Given the description of an element on the screen output the (x, y) to click on. 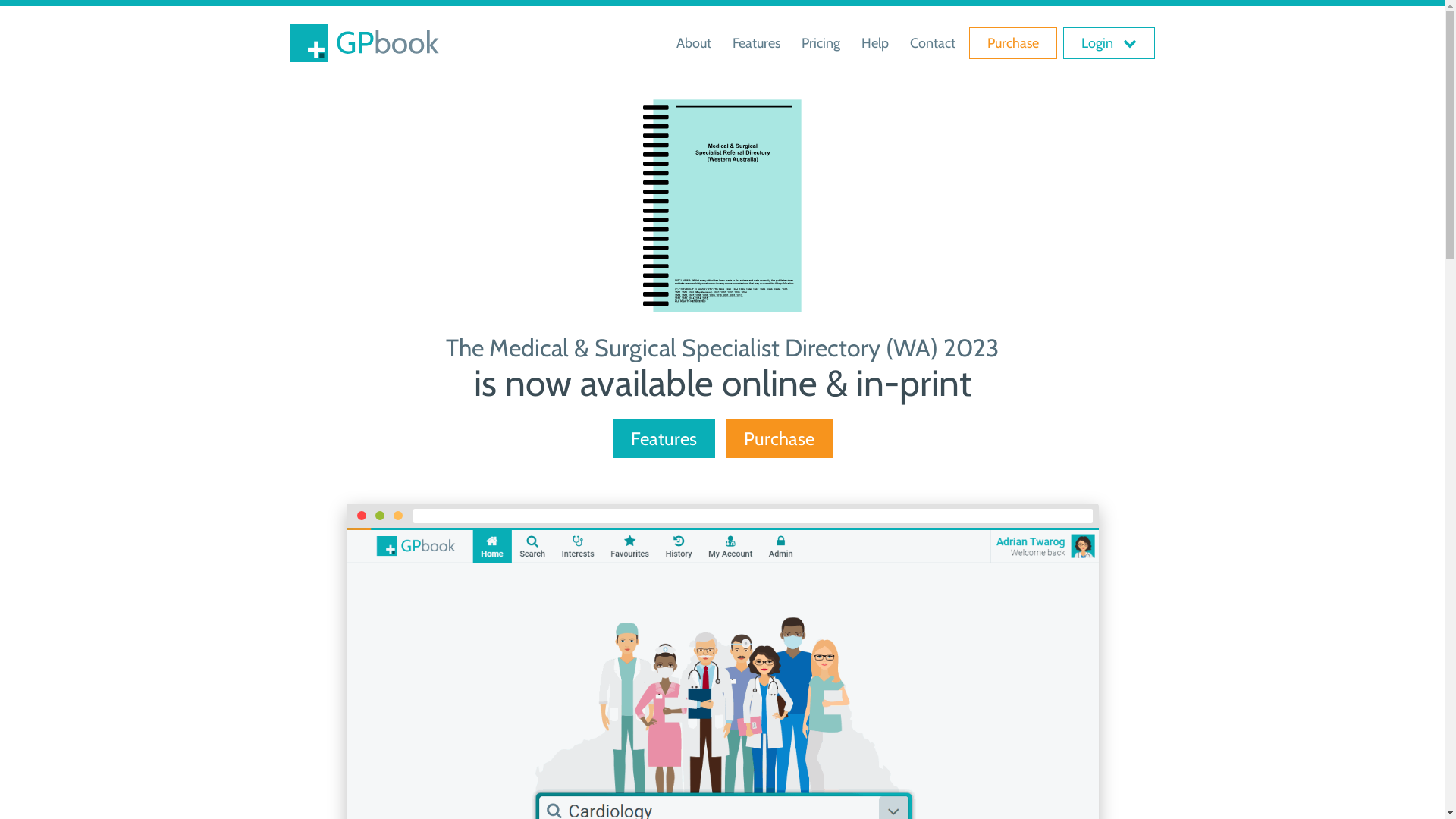
Contact Element type: text (932, 43)
Login Element type: text (1108, 43)
About Element type: text (693, 43)
Pricing Element type: text (820, 43)
Features Element type: text (755, 43)
Help Element type: text (874, 43)
Purchase Element type: text (777, 438)
Purchase Element type: text (1013, 43)
Features Element type: text (663, 438)
